Given the description of an element on the screen output the (x, y) to click on. 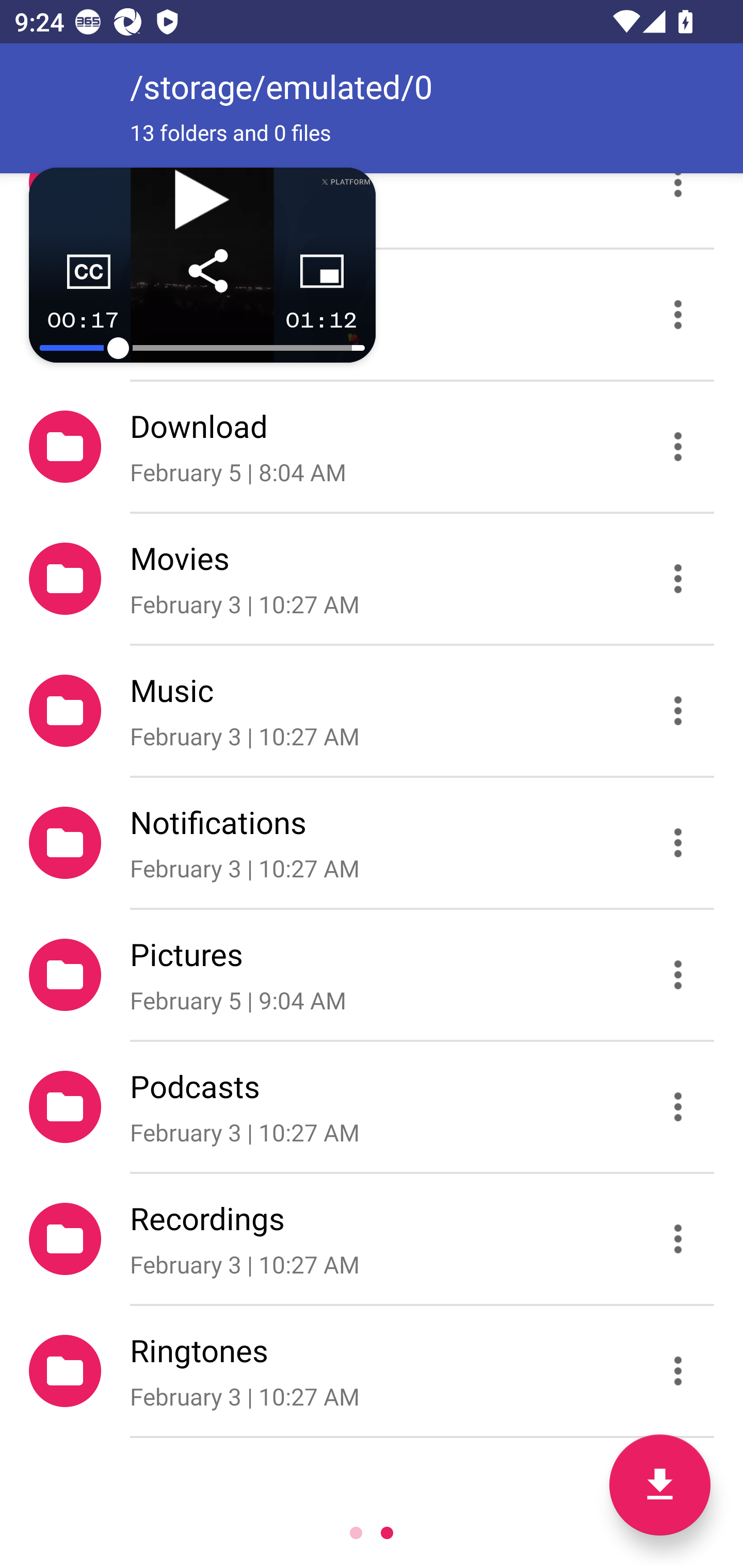
Download February 5 | 8:04 AM (371, 446)
Movies February 3 | 10:27 AM (371, 579)
Music February 3 | 10:27 AM (371, 711)
Notifications February 3 | 10:27 AM (371, 842)
Pictures February 5 | 9:04 AM (371, 974)
Podcasts February 3 | 10:27 AM (371, 1106)
Recordings February 3 | 10:27 AM (371, 1239)
Ringtones February 3 | 10:27 AM (371, 1371)
